Given the description of an element on the screen output the (x, y) to click on. 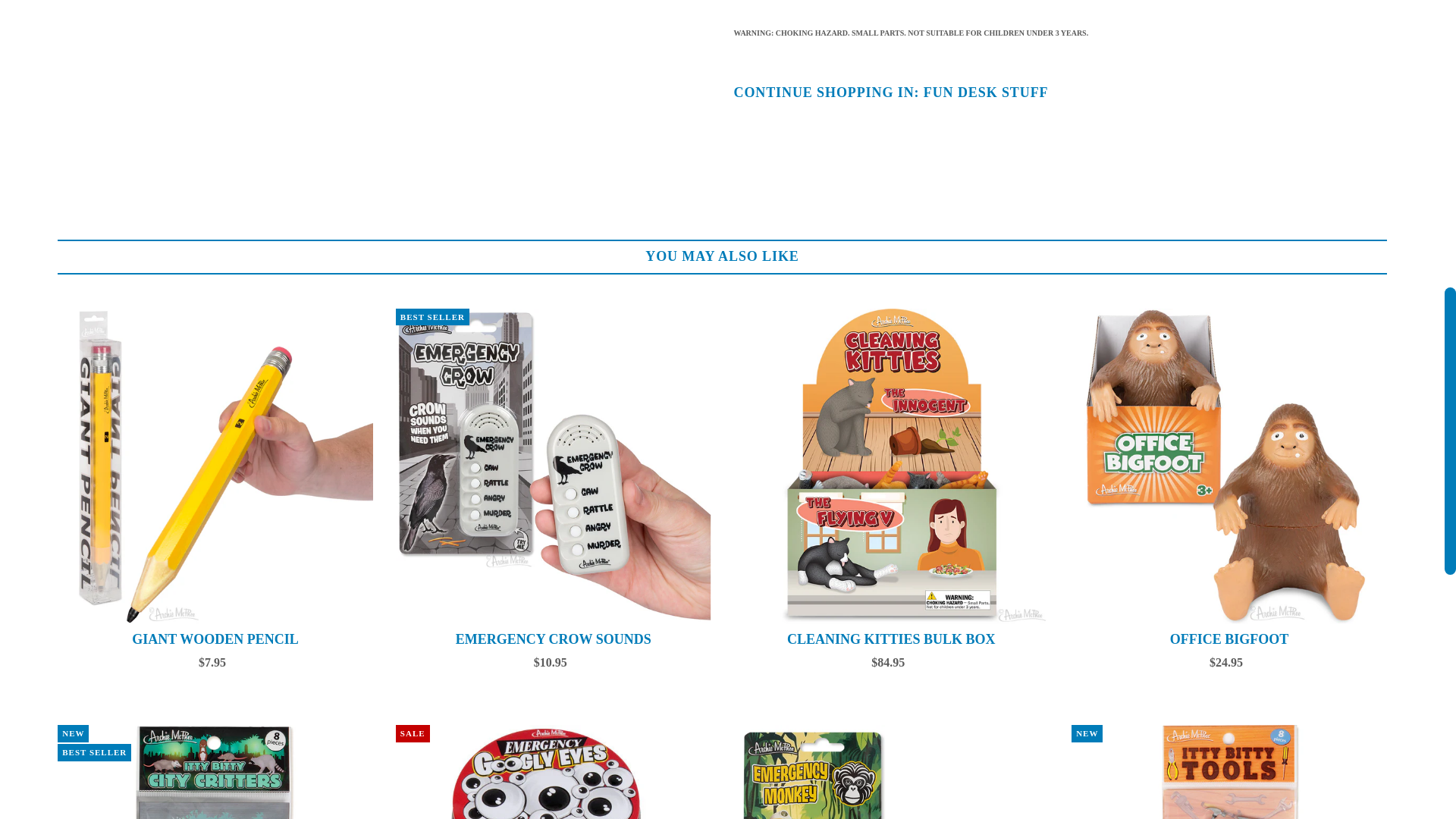
Giant Wooden Pencil (215, 466)
Cleaning Kitties Bulk Box (891, 466)
Office Bigfoot (1229, 466)
Emergency Googly Eyes (553, 771)
Itty Bitty City Critters - Bag of 8 (215, 771)
Emergency Crow Sounds (553, 466)
Itty Bitty Tools - Bag of 8 (1229, 771)
Emergency Monkey Sounds (891, 771)
